Given the description of an element on the screen output the (x, y) to click on. 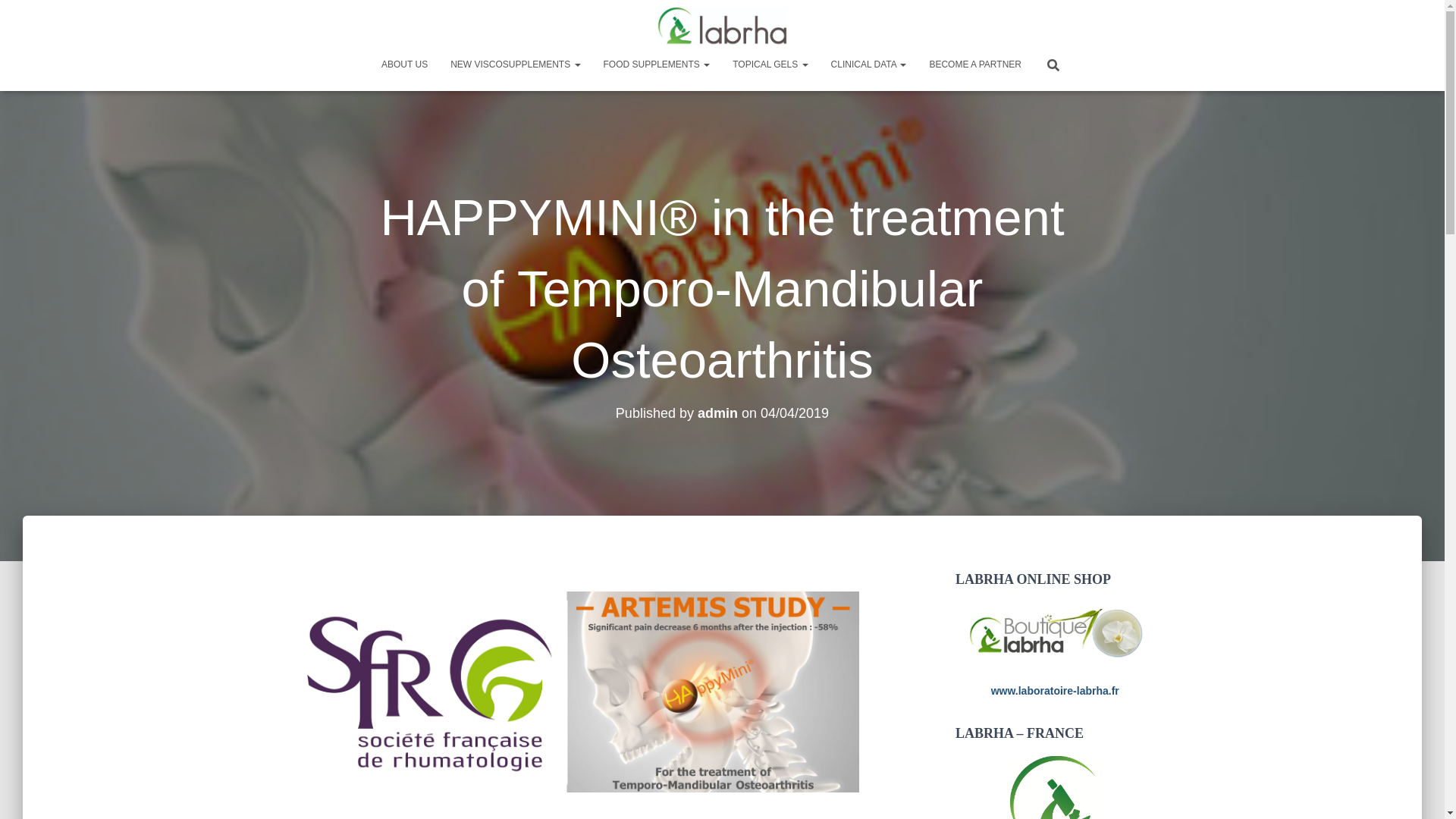
BECOME A PARTNER (974, 64)
www.laboratoire-labrha.fr (1055, 690)
TOPICAL GELS (769, 64)
ABOUT US (404, 64)
FOOD SUPPLEMENTS (657, 64)
LABRHA INTERNATIONAL (721, 26)
TOPICAL GELS (769, 64)
CLINICAL DATA (868, 64)
NEW VISCOSUPPLEMENTS (515, 64)
NEW VISCOSUPPLEMENTS (515, 64)
